Given the description of an element on the screen output the (x, y) to click on. 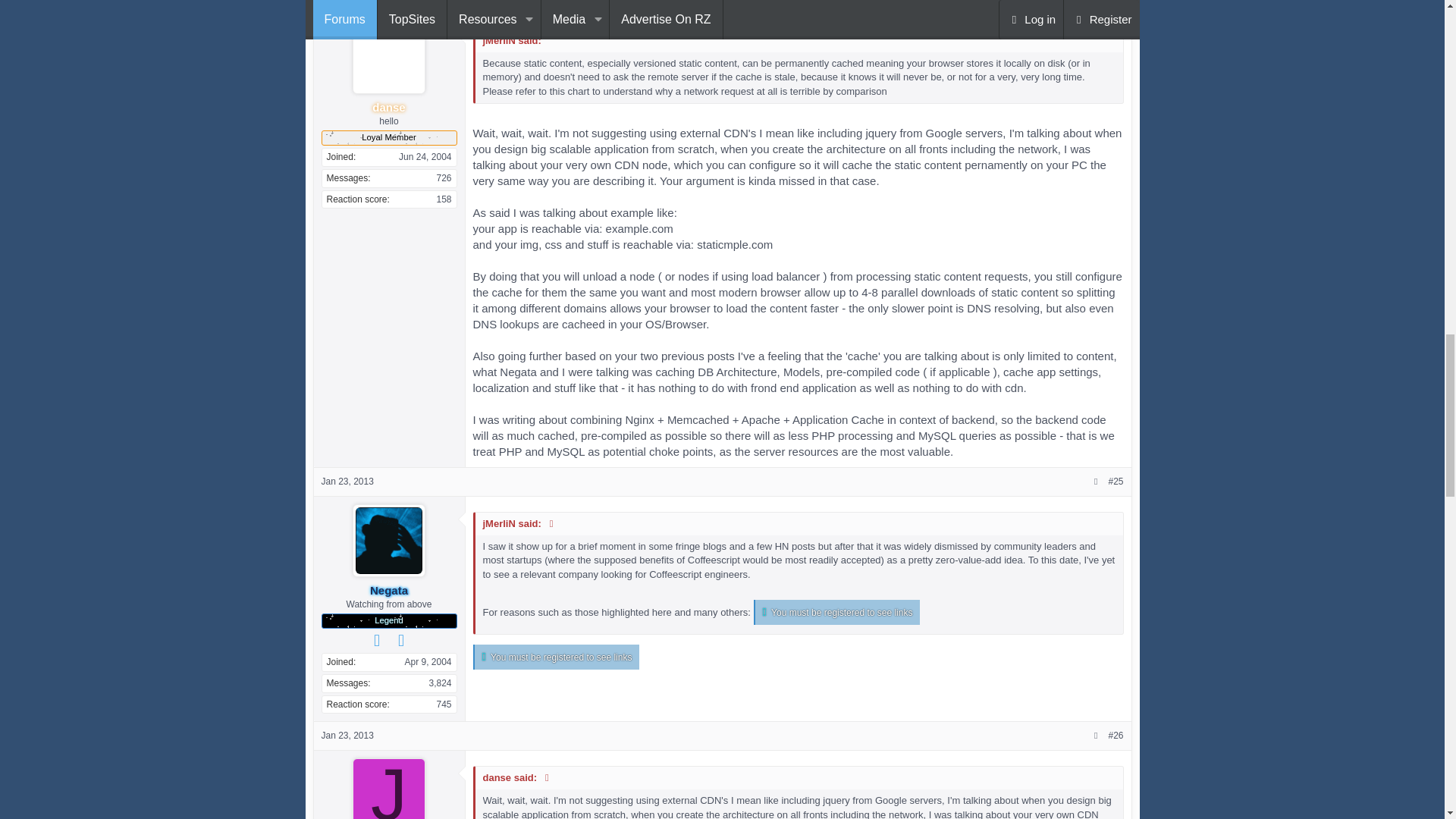
Jan 23, 2013 at 9:28 AM (347, 480)
Jan 23, 2013 at 10:40 PM (347, 735)
Jan 23, 2013 at 8:34 AM (347, 2)
